Given the description of an element on the screen output the (x, y) to click on. 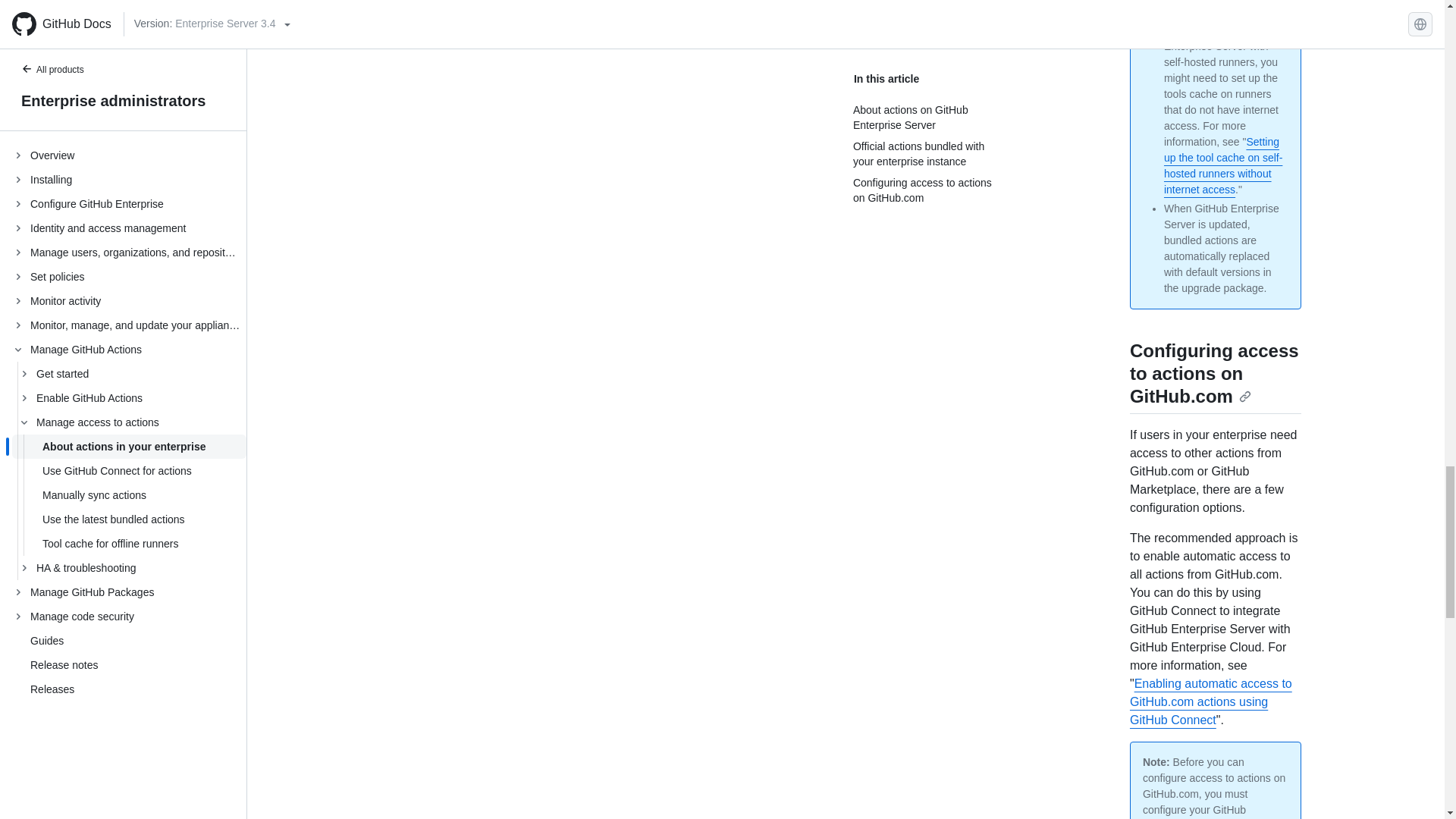
Configuring access to actions on GitHub.com (1213, 372)
